Given the description of an element on the screen output the (x, y) to click on. 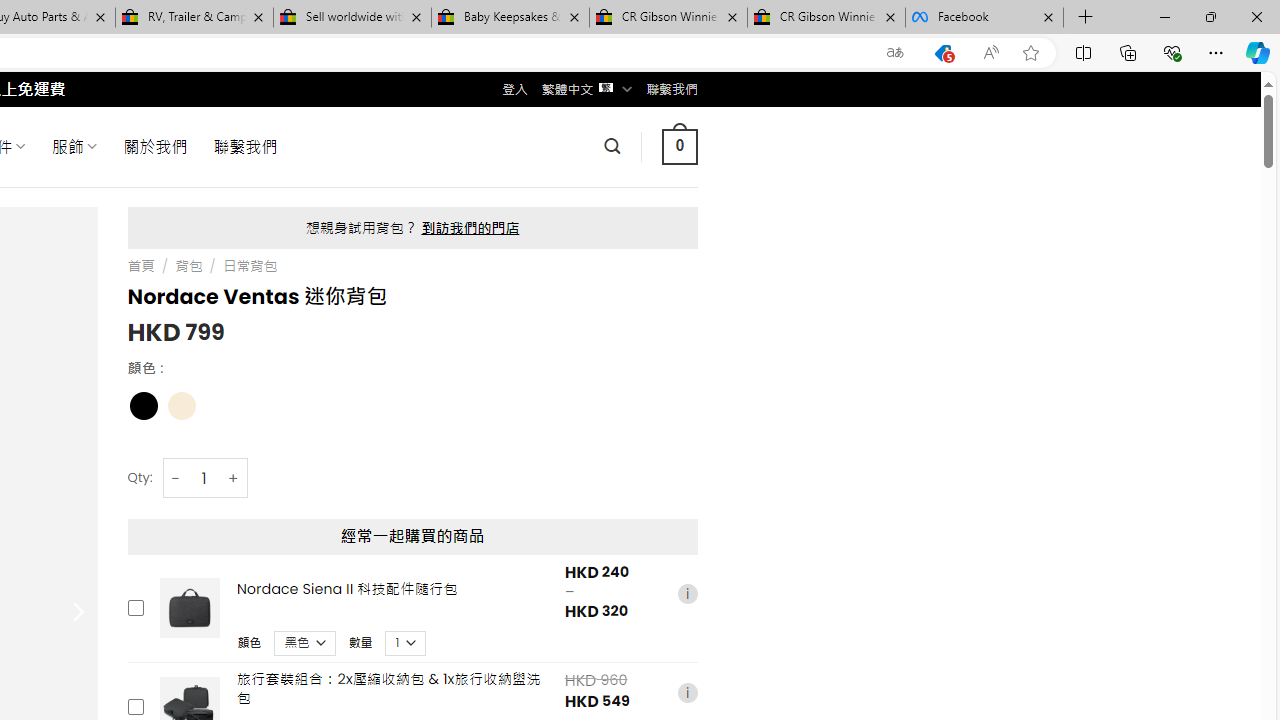
- (175, 477)
  0   (679, 146)
+ (234, 477)
